Given the description of an element on the screen output the (x, y) to click on. 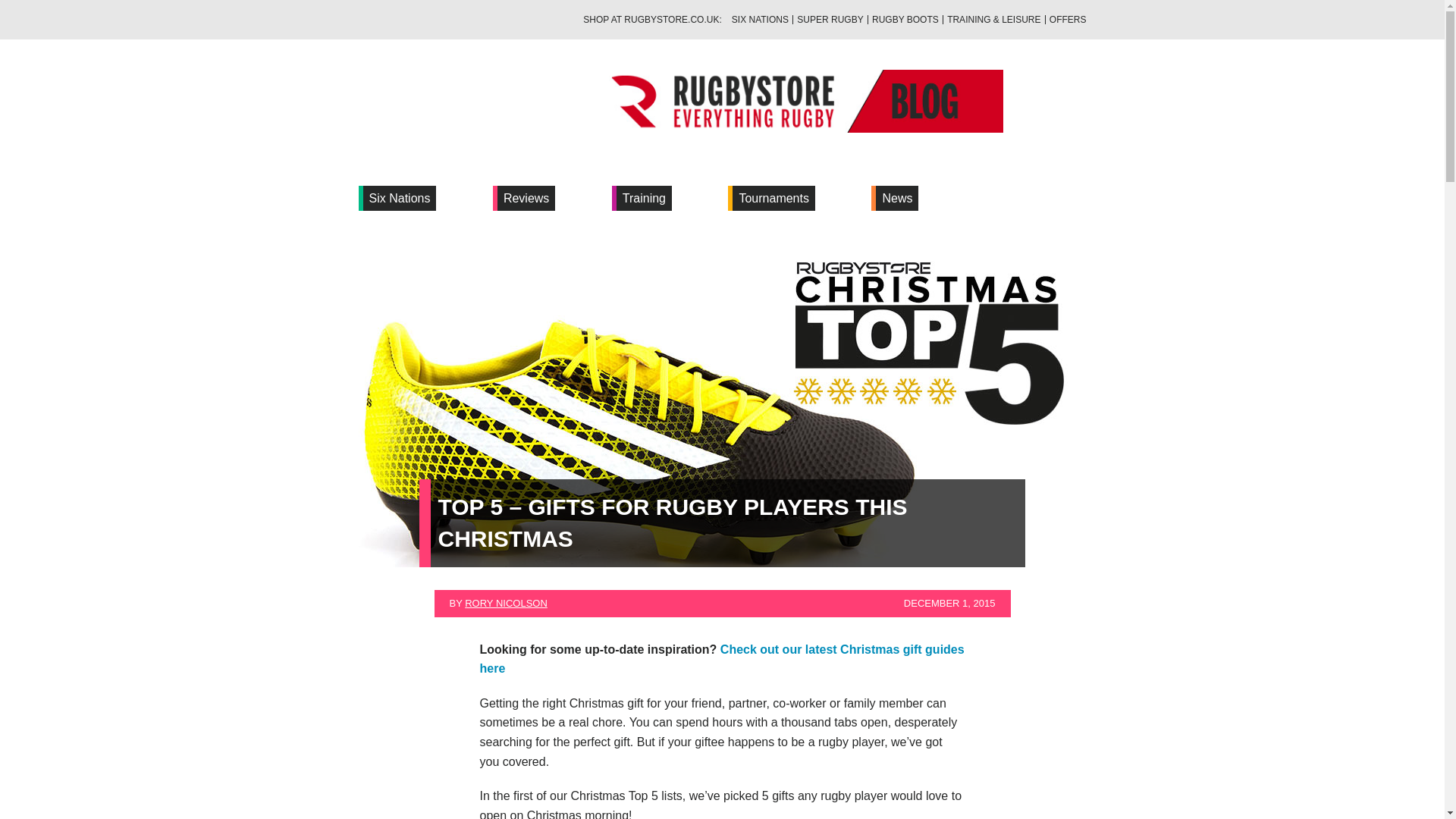
Check out our latest Christmas gift guides here (721, 658)
Training (643, 198)
RUGBYSTORE.CO.UK (671, 19)
Six Nations (398, 198)
SIX NATIONS (760, 19)
News (897, 198)
RUGBY BOOTS (905, 19)
SUPER RUGBY (829, 19)
Reviews (525, 198)
Tournaments (773, 198)
OFFERS (1067, 19)
RORY NICOLSON (505, 603)
